Given the description of an element on the screen output the (x, y) to click on. 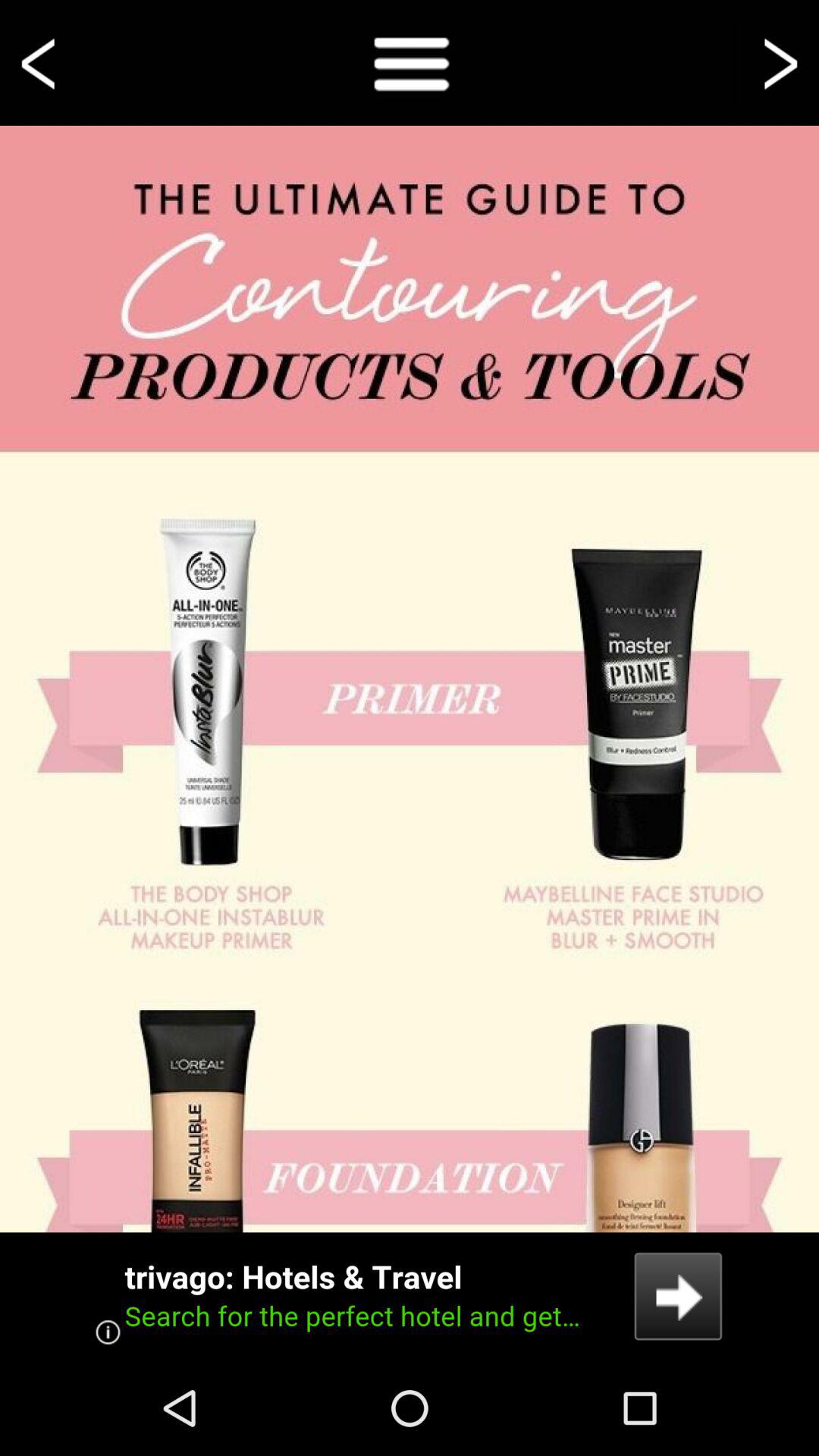
voltar a tela anterior (40, 62)
